Given the description of an element on the screen output the (x, y) to click on. 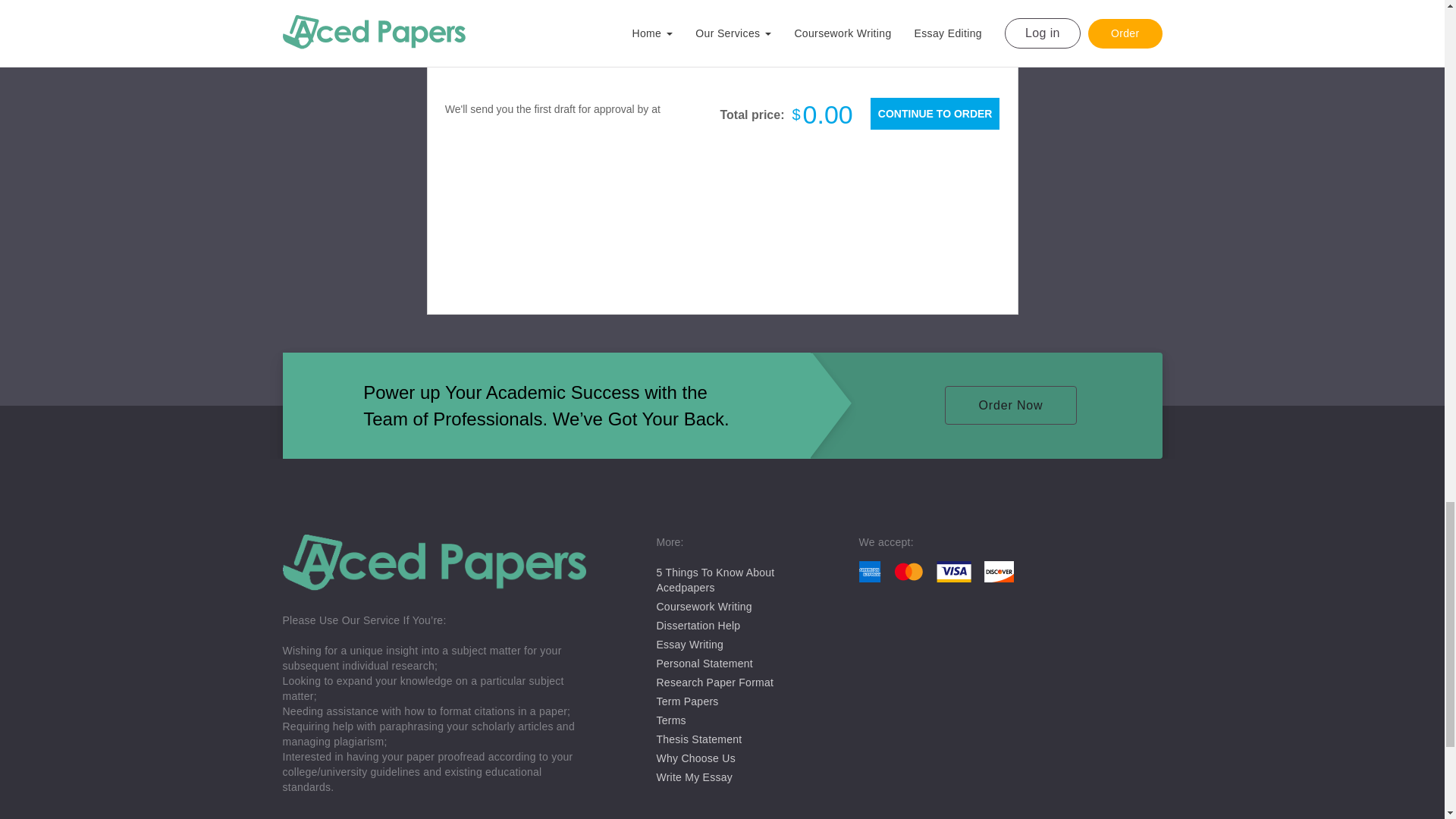
1 (943, 19)
Increase (983, 19)
Continue to order (934, 113)
Continue to Order (934, 113)
Decrease (902, 19)
